Given the description of an element on the screen output the (x, y) to click on. 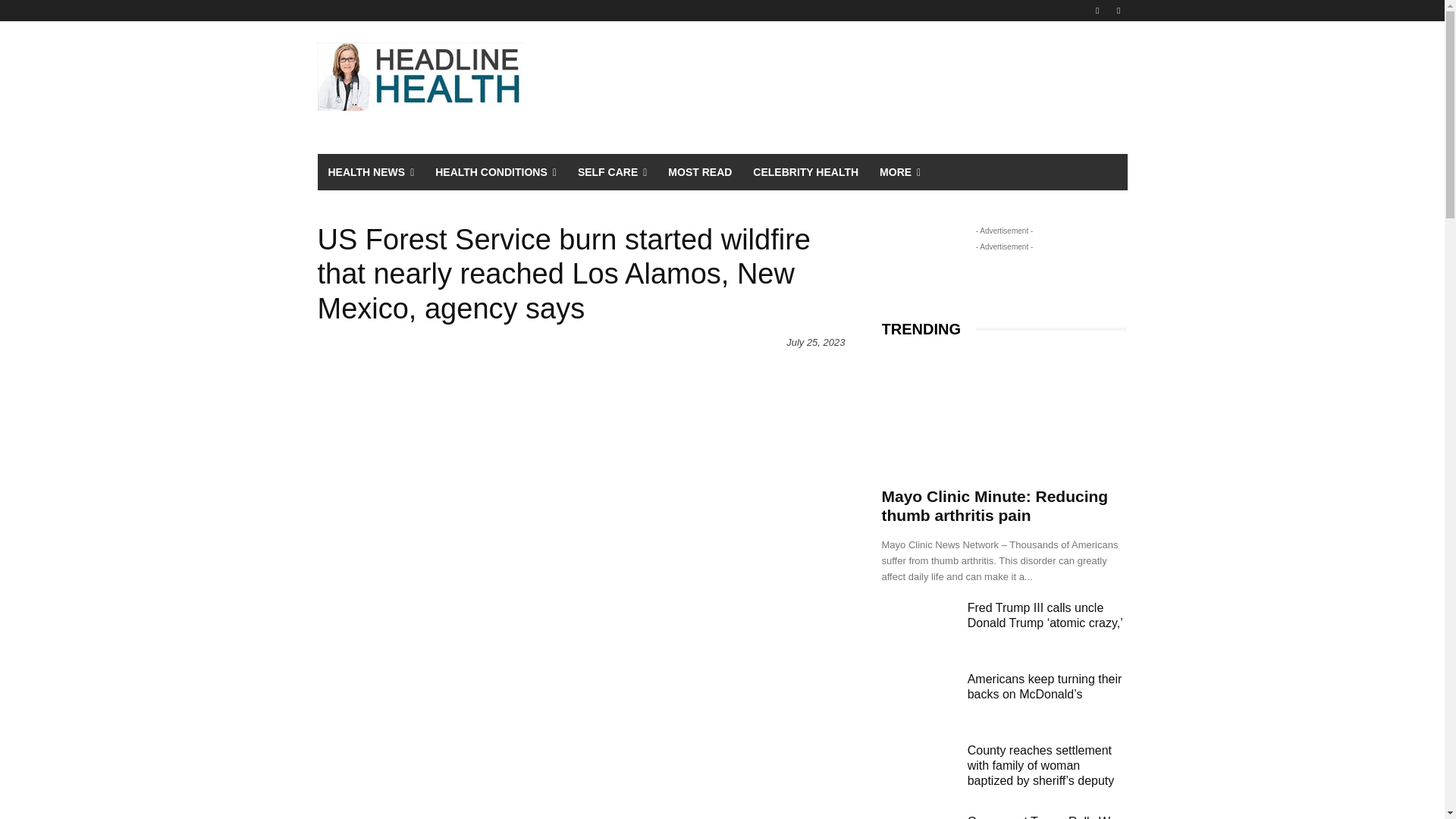
Mayo Clinic Minute: Reducing thumb arthritis pain (1003, 414)
Facebook (1097, 9)
Mayo Clinic Minute: Reducing thumb arthritis pain (994, 505)
Twitter (1117, 9)
